Given the description of an element on the screen output the (x, y) to click on. 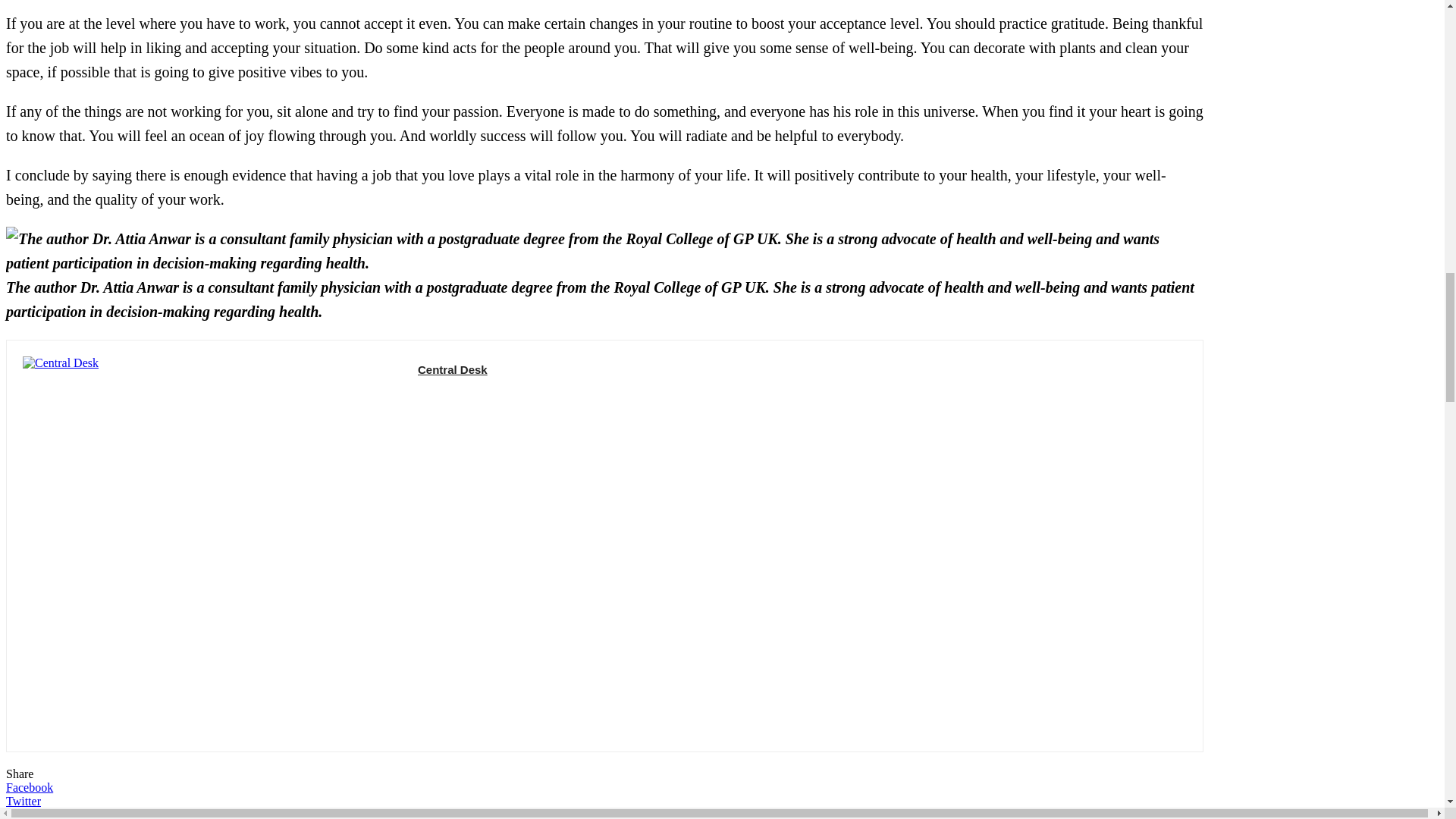
Twitter (604, 801)
Facebook (423, 394)
Twitter (445, 394)
